Given the description of an element on the screen output the (x, y) to click on. 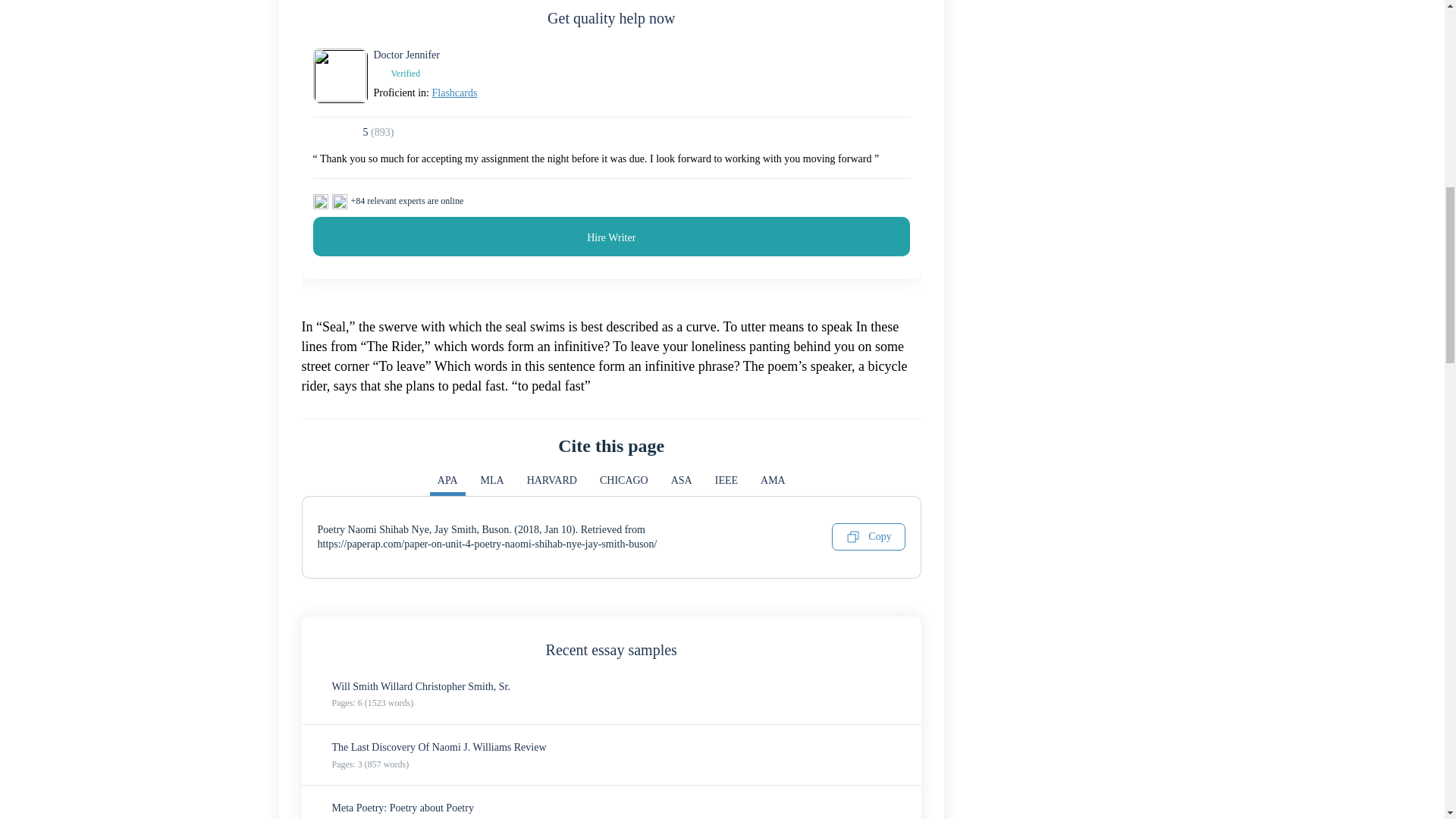
Hire Writer (611, 236)
CHICAGO (624, 484)
Copy (868, 536)
IEEE (726, 484)
ASA (681, 484)
Flashcards (454, 92)
Will Smith Willard Christopher Smith, Sr. (421, 686)
APA (447, 484)
MLA (492, 484)
AMA (772, 484)
HARVARD (552, 484)
The Last Discovery Of Naomi J. Williams Review (439, 747)
Meta Poetry: Poetry about Poetry (402, 808)
